Given the description of an element on the screen output the (x, y) to click on. 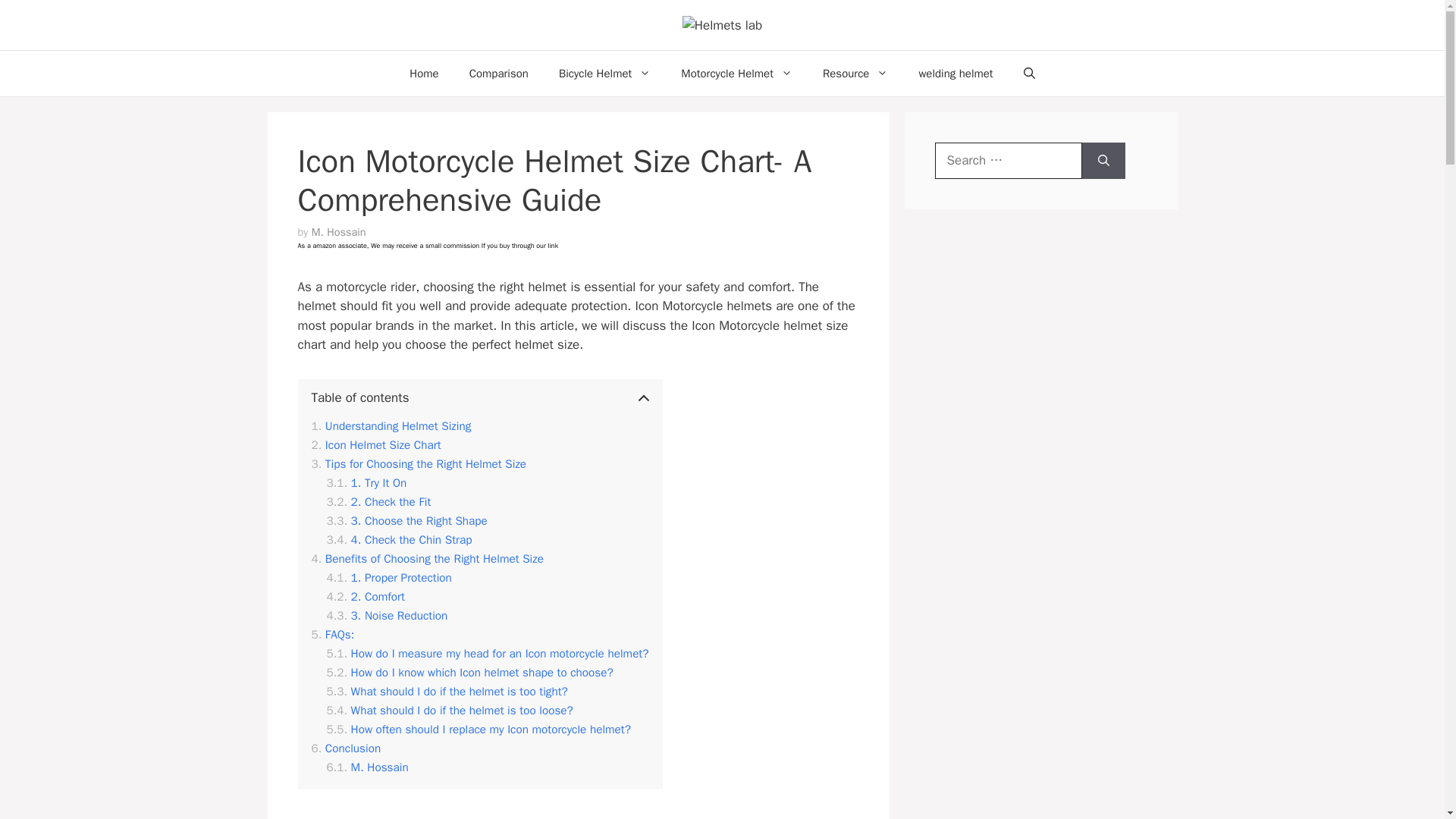
How often should I replace my Icon motorcycle helmet? (478, 729)
M. Hossain (338, 232)
3. Choose the Right Shape (406, 521)
Benefits of Choosing the Right Helmet Size (427, 559)
3. Noise Reduction (386, 616)
welding helmet (954, 73)
Tips for Choosing the Right Helmet Size (418, 464)
Icon Helmet Size Chart (376, 445)
How do I measure my head for an Icon motorcycle helmet? (486, 653)
Understanding Helmet Sizing (390, 426)
